Given the description of an element on the screen output the (x, y) to click on. 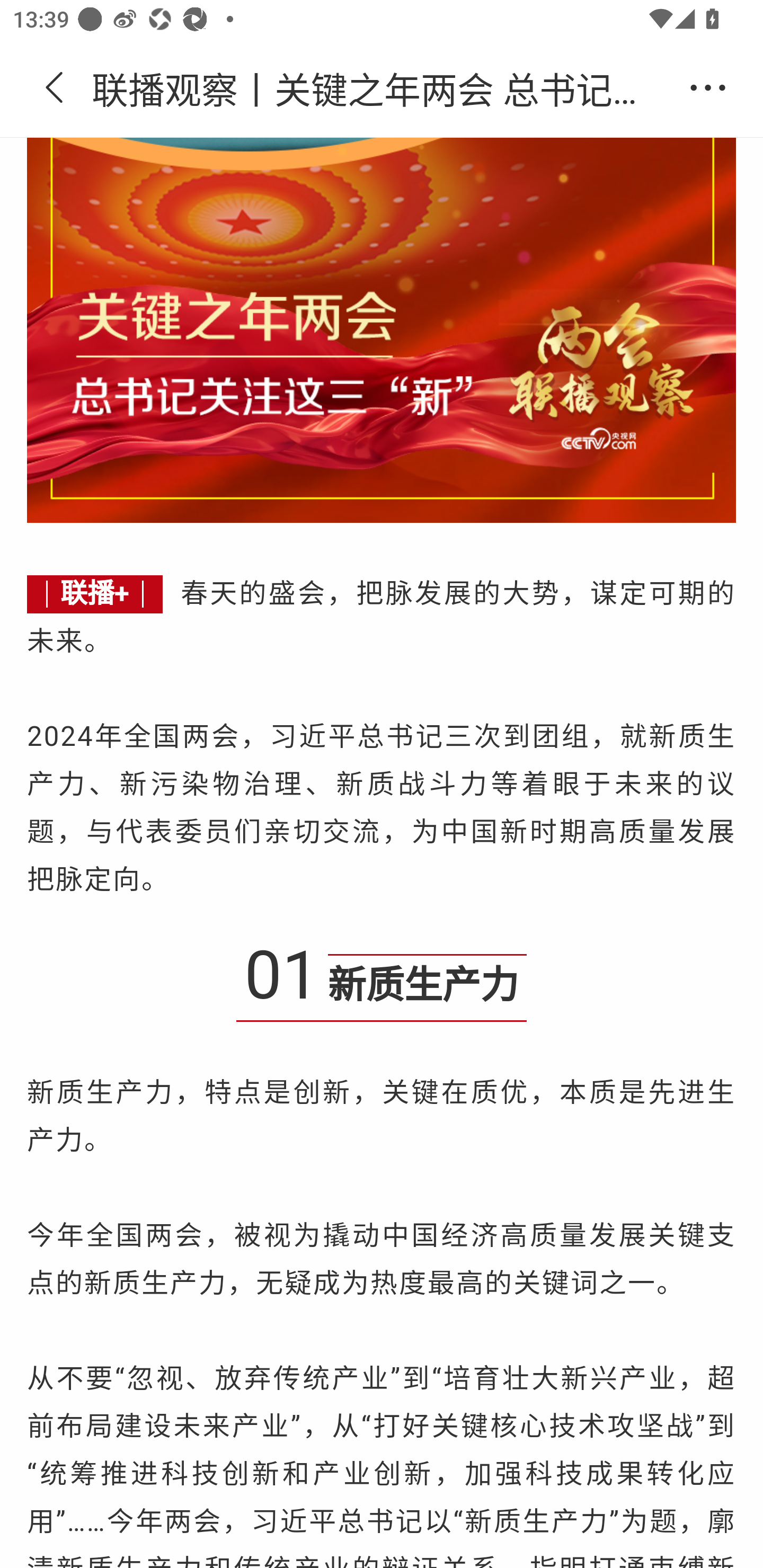
联播观察丨关键之年两会 总书记关注这三“新” (381, 87)
 返回 (54, 87)
 更多 (707, 87)
